Given the description of an element on the screen output the (x, y) to click on. 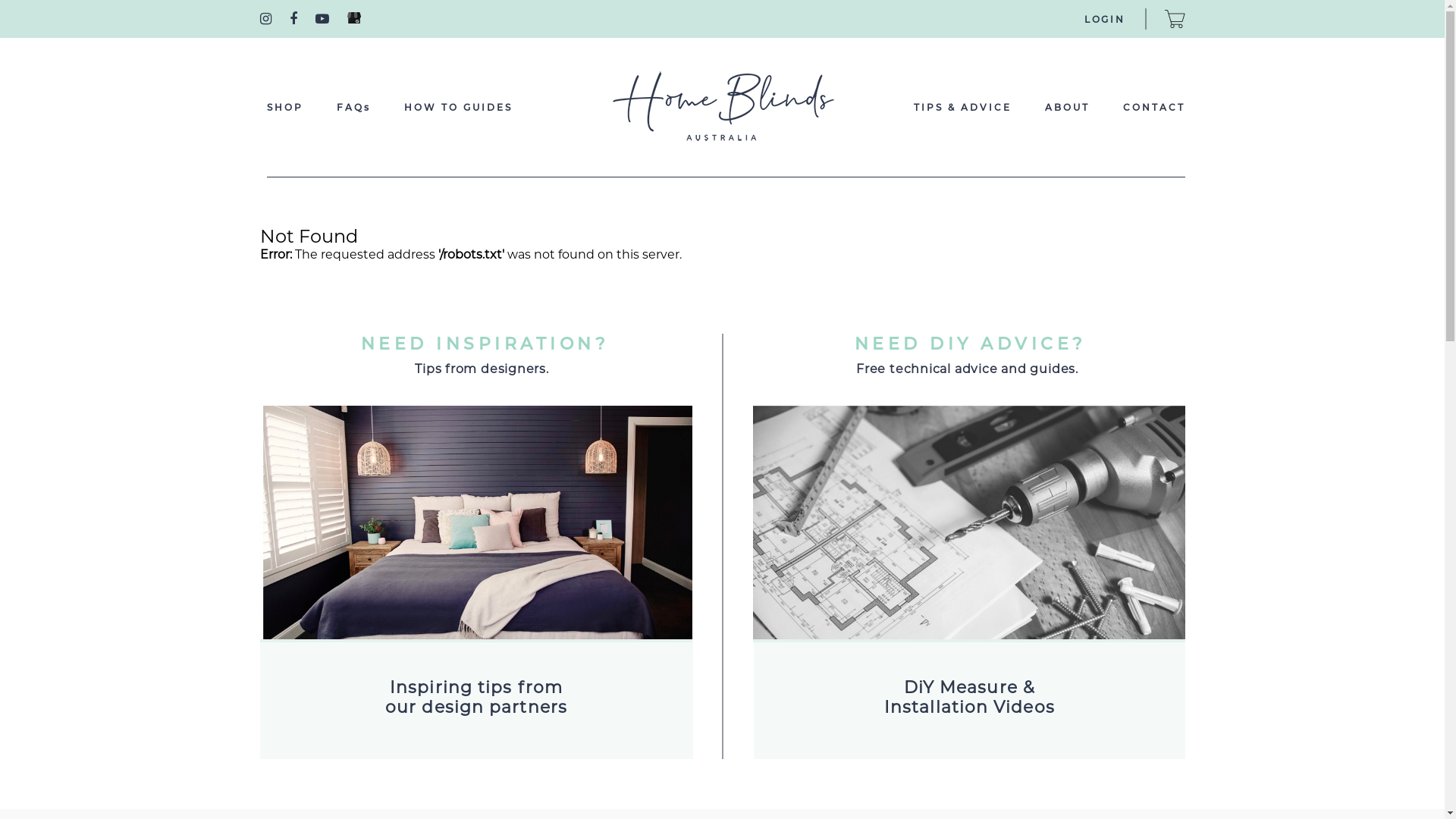
CONTACT Element type: text (1153, 108)
test title Element type: hover (475, 634)
Tips from designers. Element type: text (484, 368)
FAQs Element type: text (353, 108)
ABOUT Element type: text (1066, 108)
HOW TO GUIDES Element type: text (457, 108)
Free technical advice and guides. Element type: text (969, 368)
SHOP Element type: text (284, 108)
DiY Measure &
Installation Videos Element type: text (969, 697)
NEED DIY ADVICE? Element type: text (969, 343)
LOGIN Element type: text (1104, 19)
Inspiring tips from
our design partners Element type: text (476, 697)
TIPS & ADVICE Element type: text (961, 108)
'How to' videos Element type: hover (968, 522)
NEED INSPIRATION? Element type: text (484, 343)
